Given the description of an element on the screen output the (x, y) to click on. 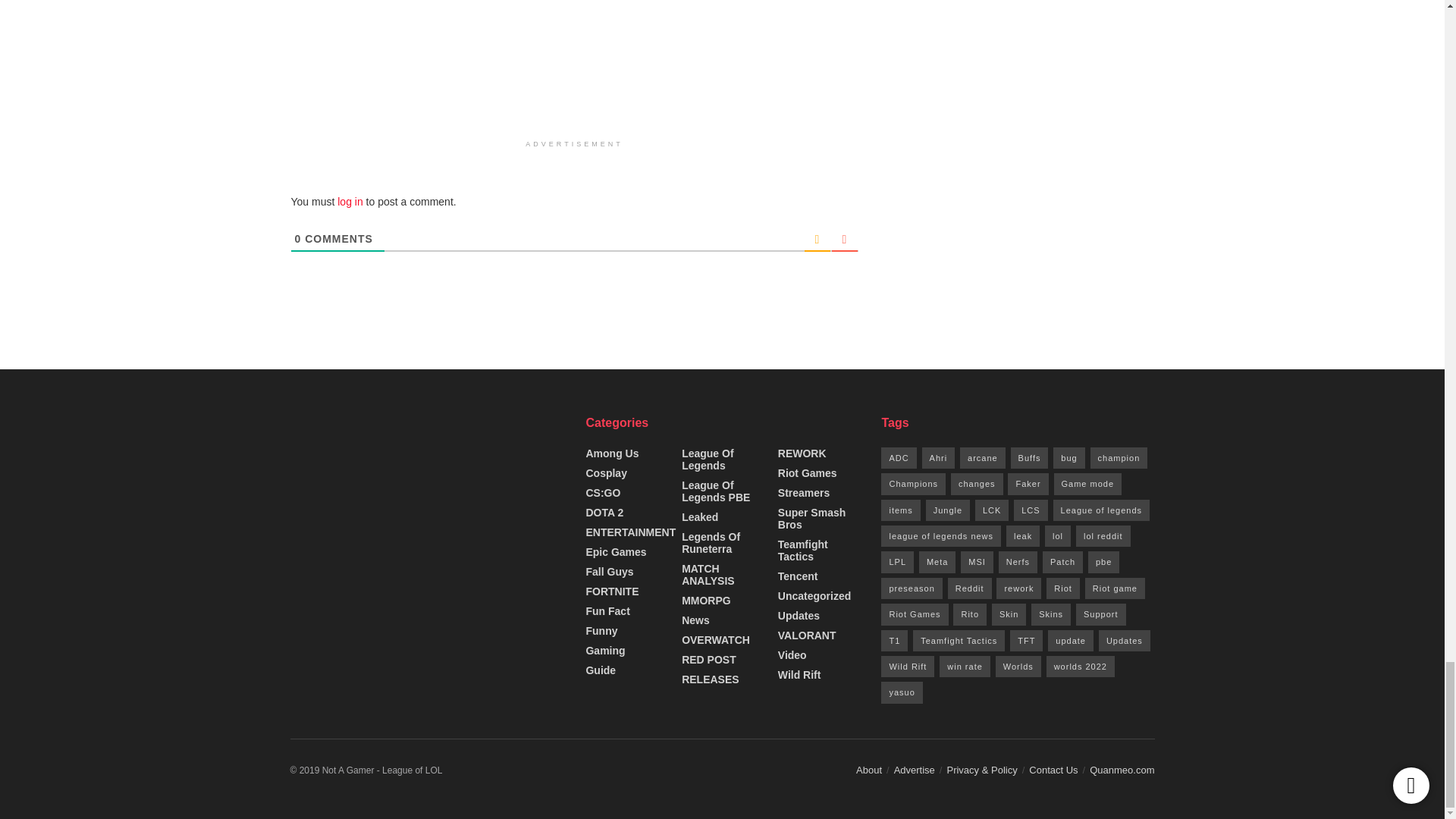
Get the latest, exclusive news about CS:GO (602, 492)
Get the latest, exclusive news about Dota 2 (604, 512)
Get the latest, exclusive news about Fortnite (612, 591)
